Given the description of an element on the screen output the (x, y) to click on. 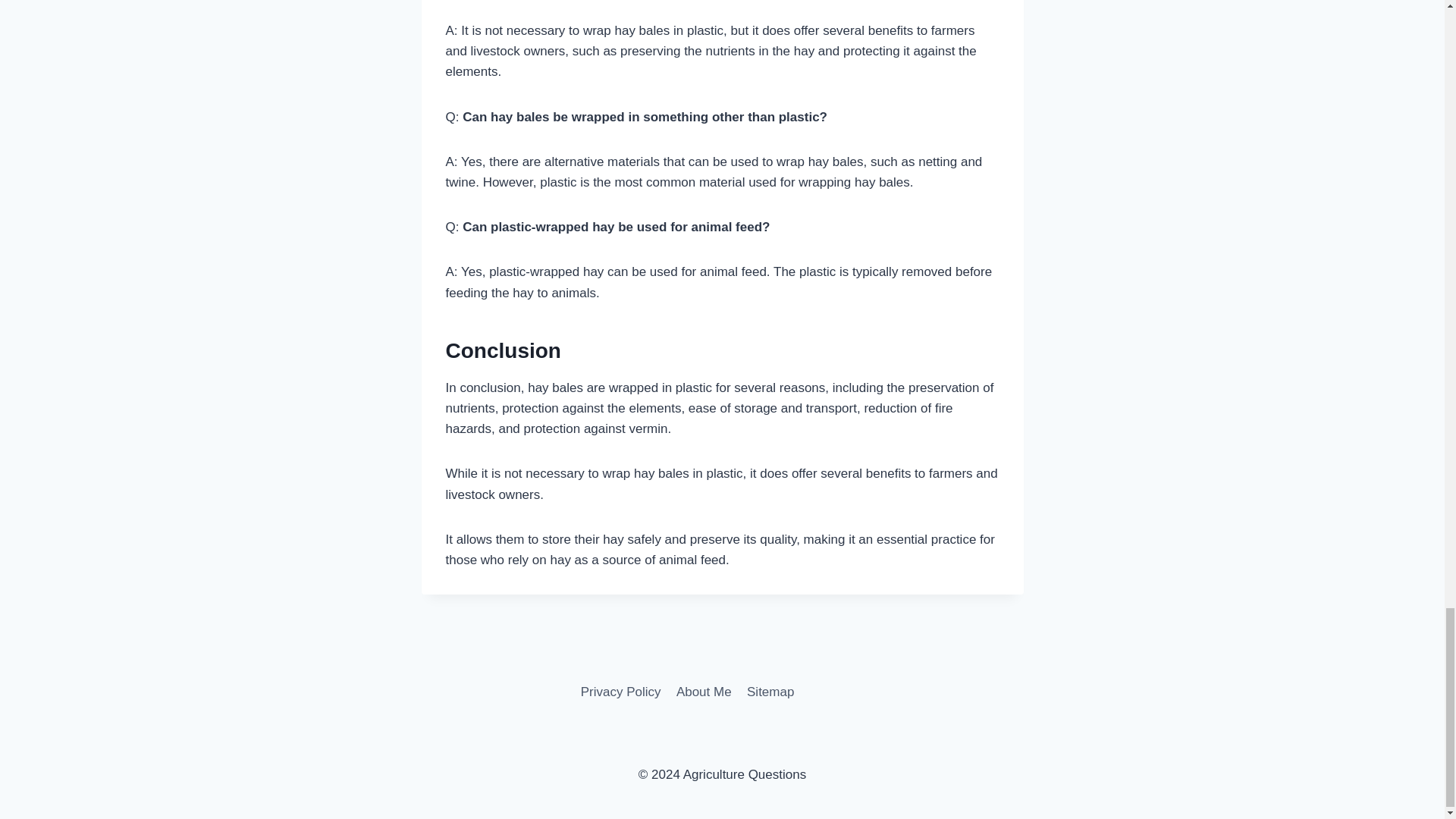
Sitemap (770, 691)
Privacy Policy (620, 691)
About Me (703, 691)
